Given the description of an element on the screen output the (x, y) to click on. 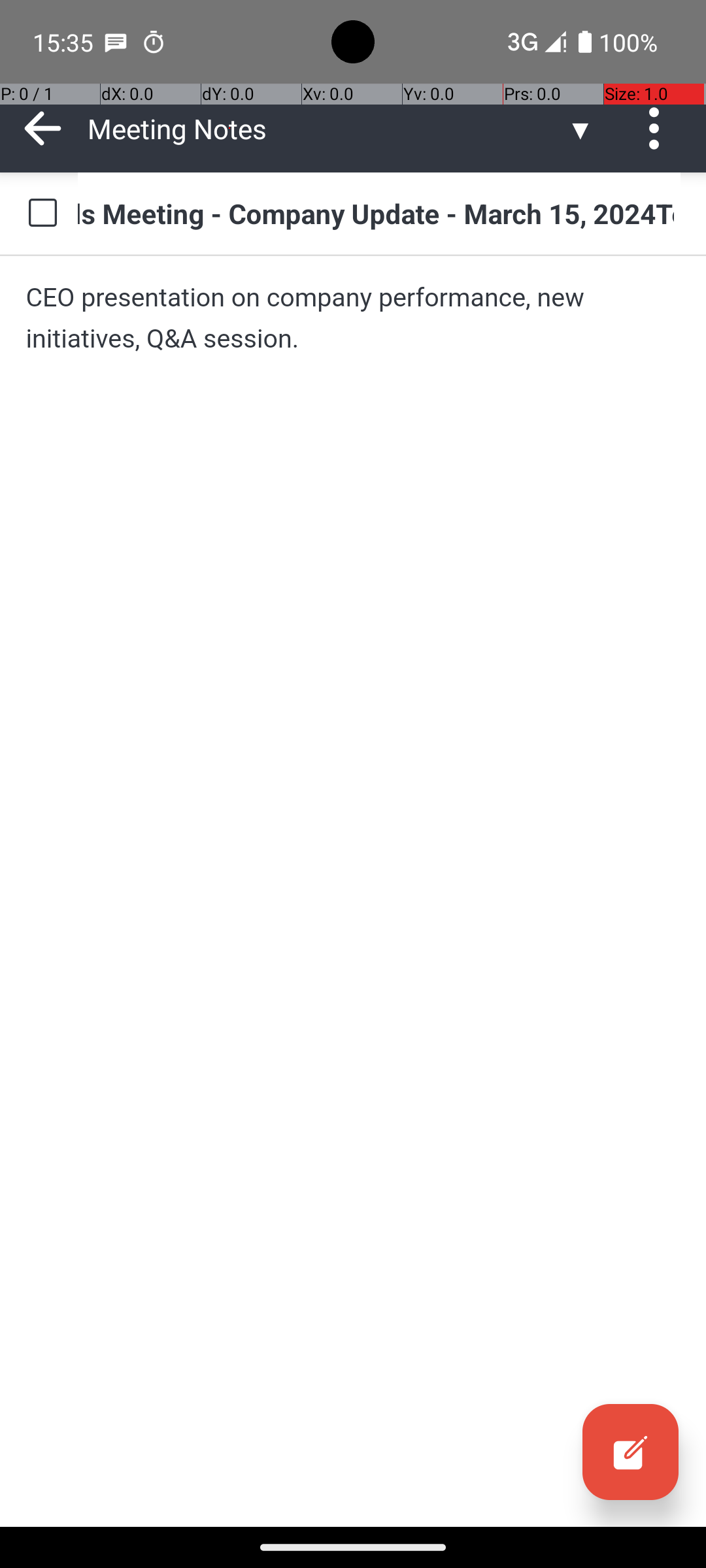
All-Hands Meeting - Company UAll-Hands Meeting - Company Update - March 15, 2024Test Inputpdate - February 7, 2024 Element type: android.widget.EditText (378, 213)
Created: 14/10/2023 15:34 Element type: android.widget.TextView (448, 131)
Updated: 15/10/2023 15:34 Element type: android.widget.TextView (451, 193)
View on map Element type: android.widget.TextView (371, 307)
CEO presentation on company performance, new initiatives, Q&A session. Element type: android.widget.TextView (352, 317)
